Given the description of an element on the screen output the (x, y) to click on. 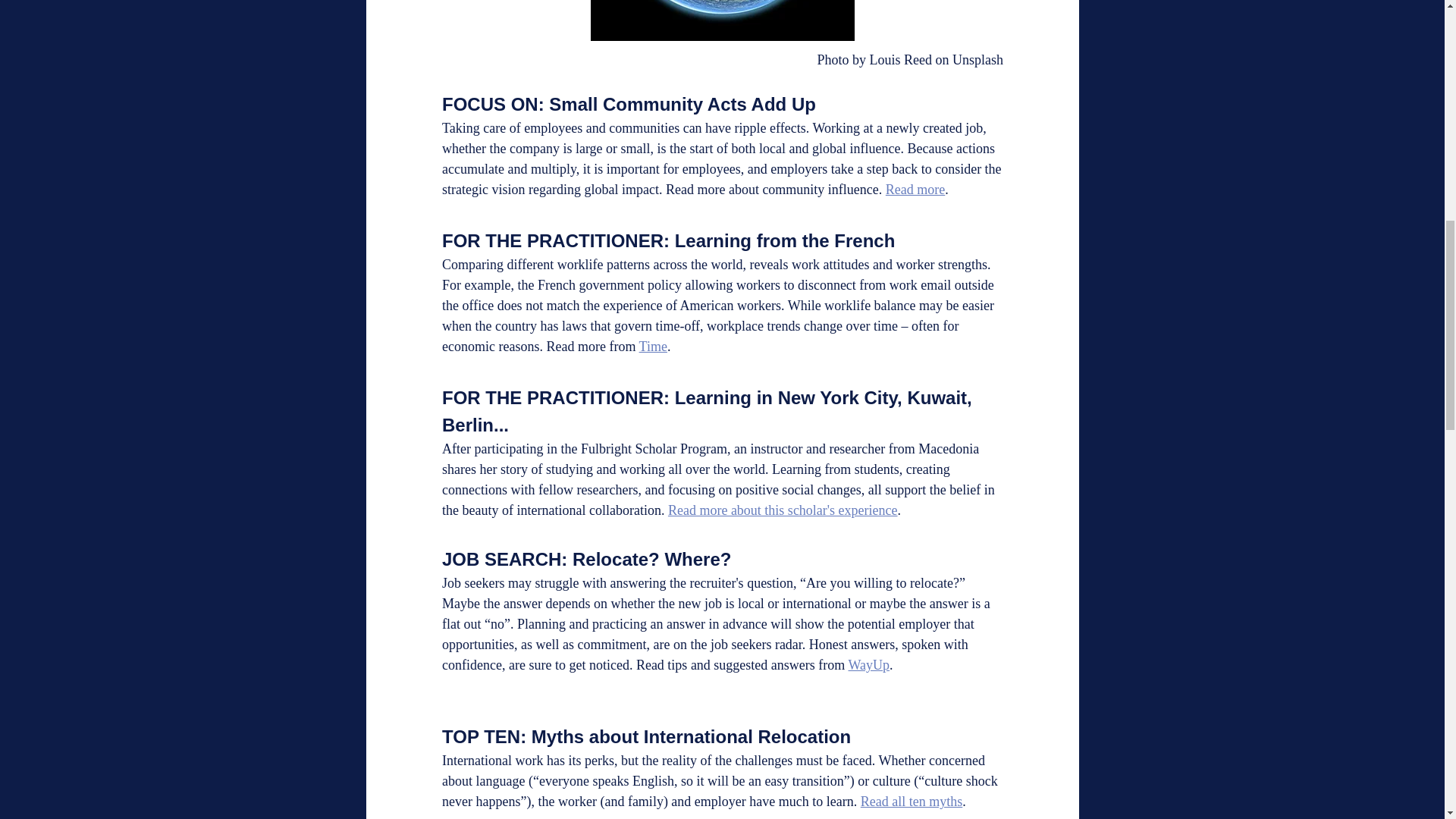
WayUp (868, 664)
Read all ten myths (910, 801)
Read more about this scholar's experience (781, 509)
Read more (914, 189)
Time (652, 346)
